Given the description of an element on the screen output the (x, y) to click on. 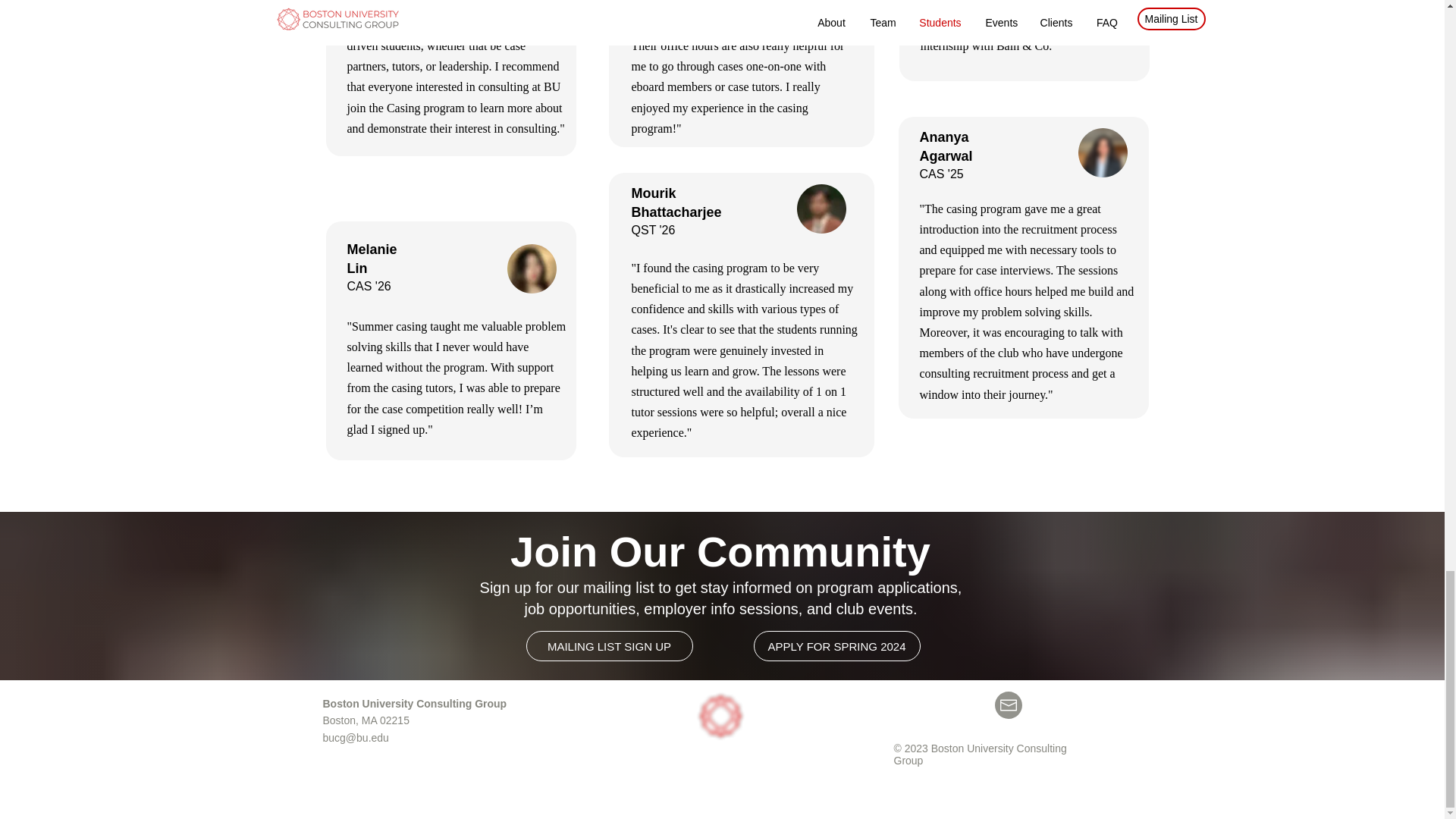
APPLY FOR SPRING 2024 (837, 645)
MAILING LIST SIGN UP (609, 645)
